Given the description of an element on the screen output the (x, y) to click on. 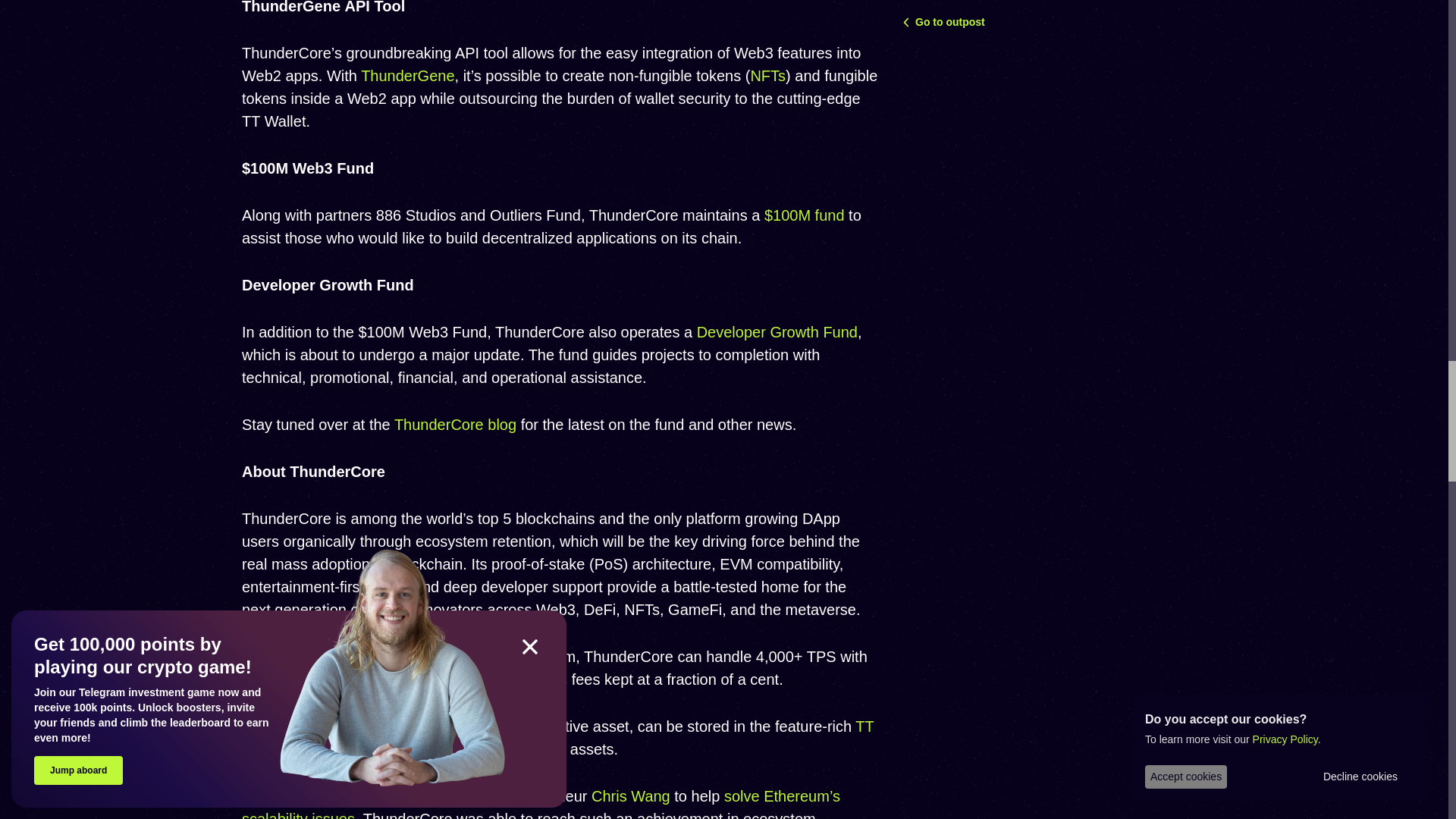
ThunderGene (407, 75)
Developer Growth Fund (777, 331)
NFTs (767, 75)
